Given the description of an element on the screen output the (x, y) to click on. 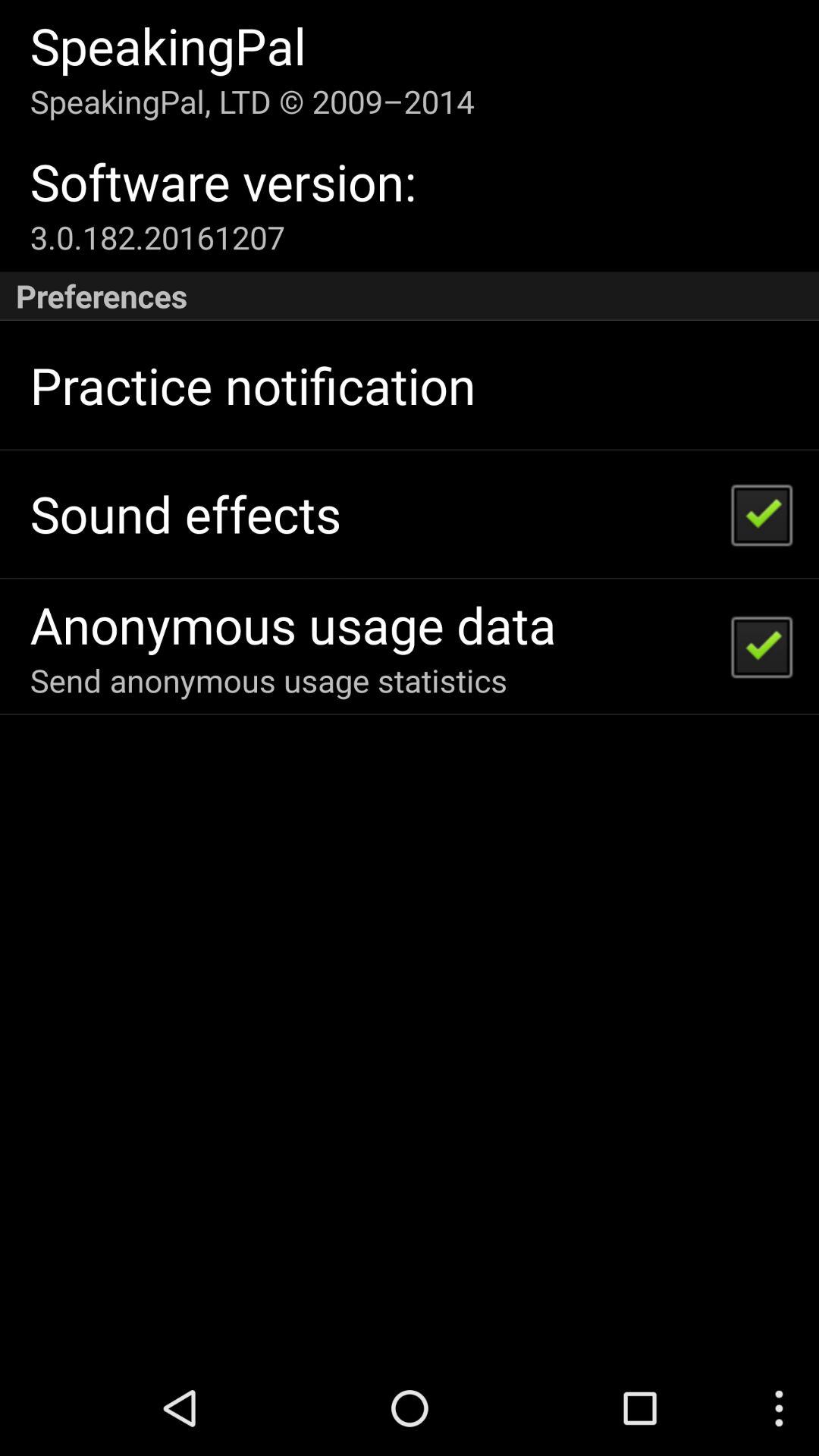
tap the icon above 3 0 182 (223, 181)
